Given the description of an element on the screen output the (x, y) to click on. 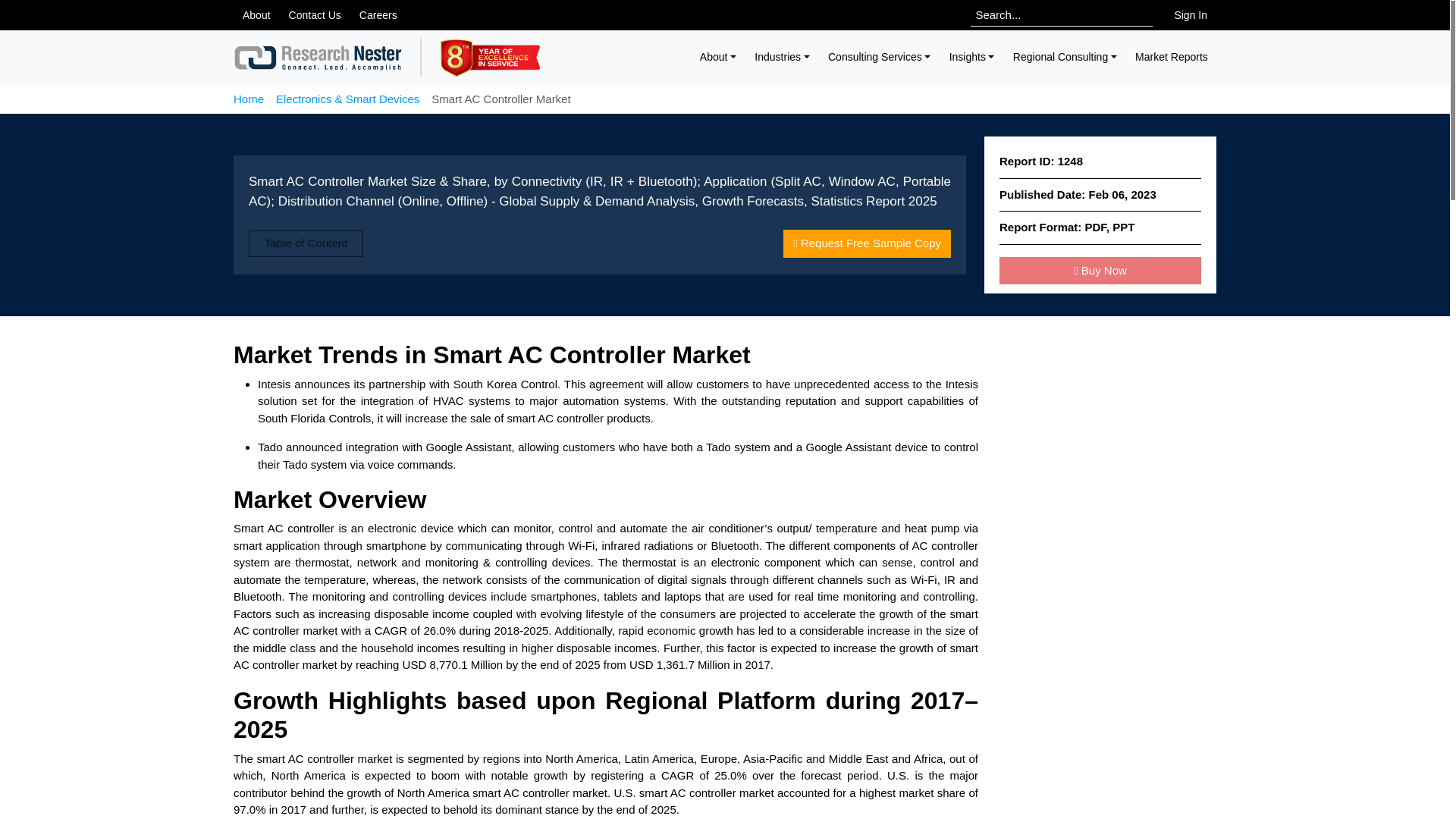
About (255, 15)
Research Nester (318, 57)
Careers (378, 15)
Industries (781, 57)
About (718, 57)
Sign In (1189, 15)
Media Center (255, 15)
Contact Us (314, 15)
Sign In (1189, 15)
Contact Us (314, 15)
